Given the description of an element on the screen output the (x, y) to click on. 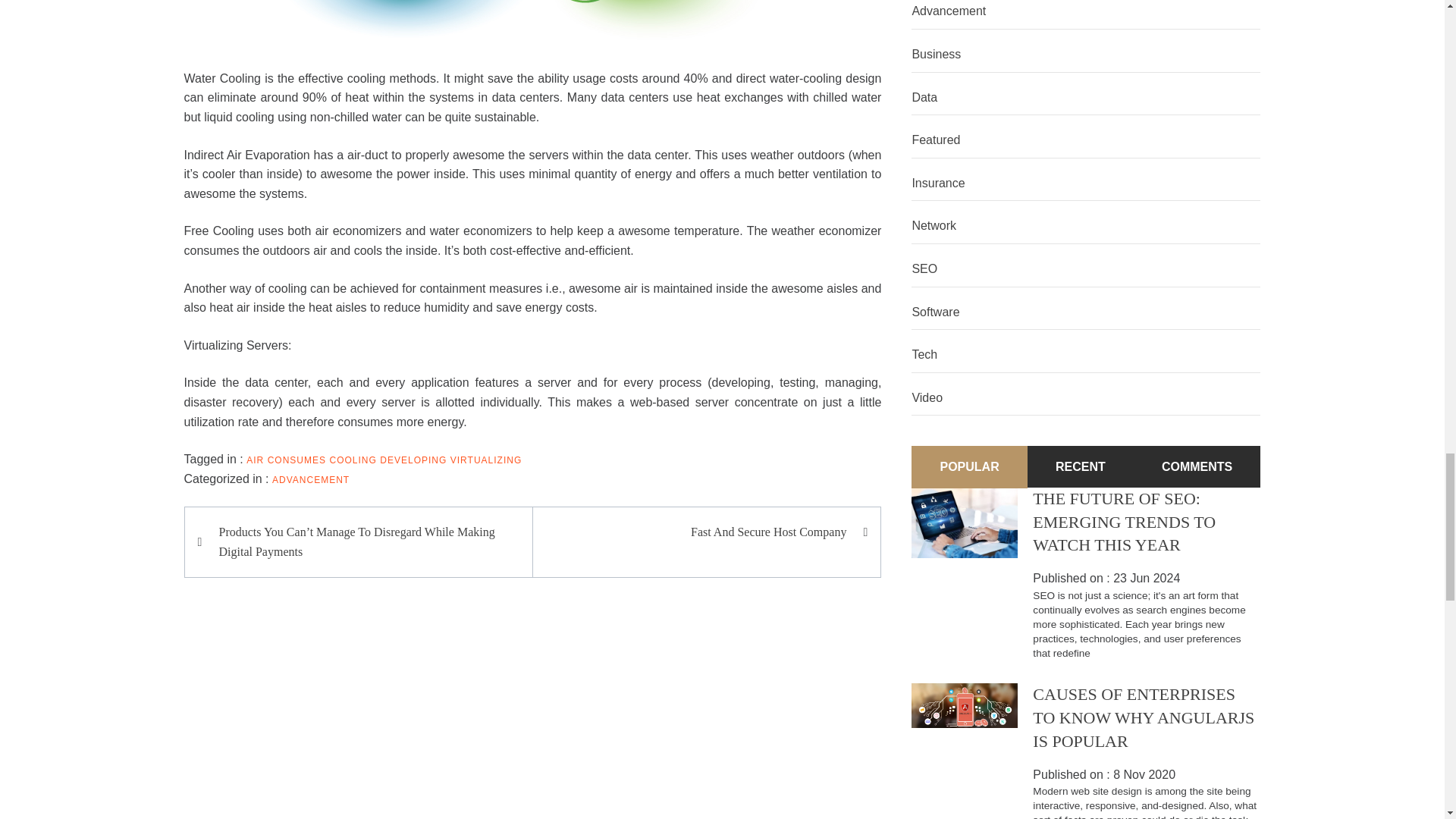
COOLING (352, 460)
DEVELOPING (413, 460)
VIRTUALIZING (485, 460)
CONSUMES (296, 460)
Fast And Secure Host Company (698, 532)
ADVANCEMENT (310, 480)
AIR (254, 460)
